Given the description of an element on the screen output the (x, y) to click on. 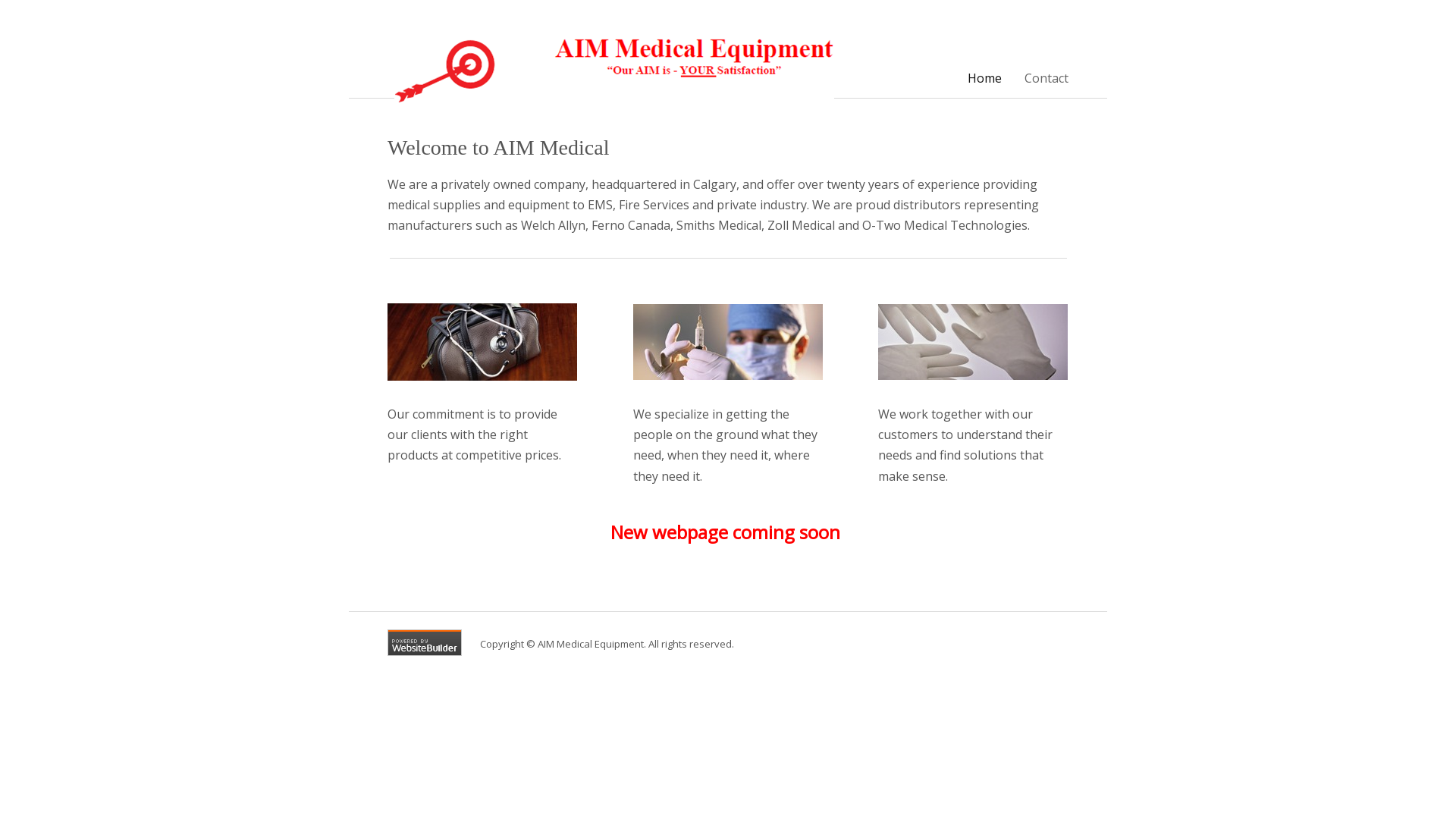
Contact Element type: text (1046, 78)
Home Element type: text (984, 78)
